Given the description of an element on the screen output the (x, y) to click on. 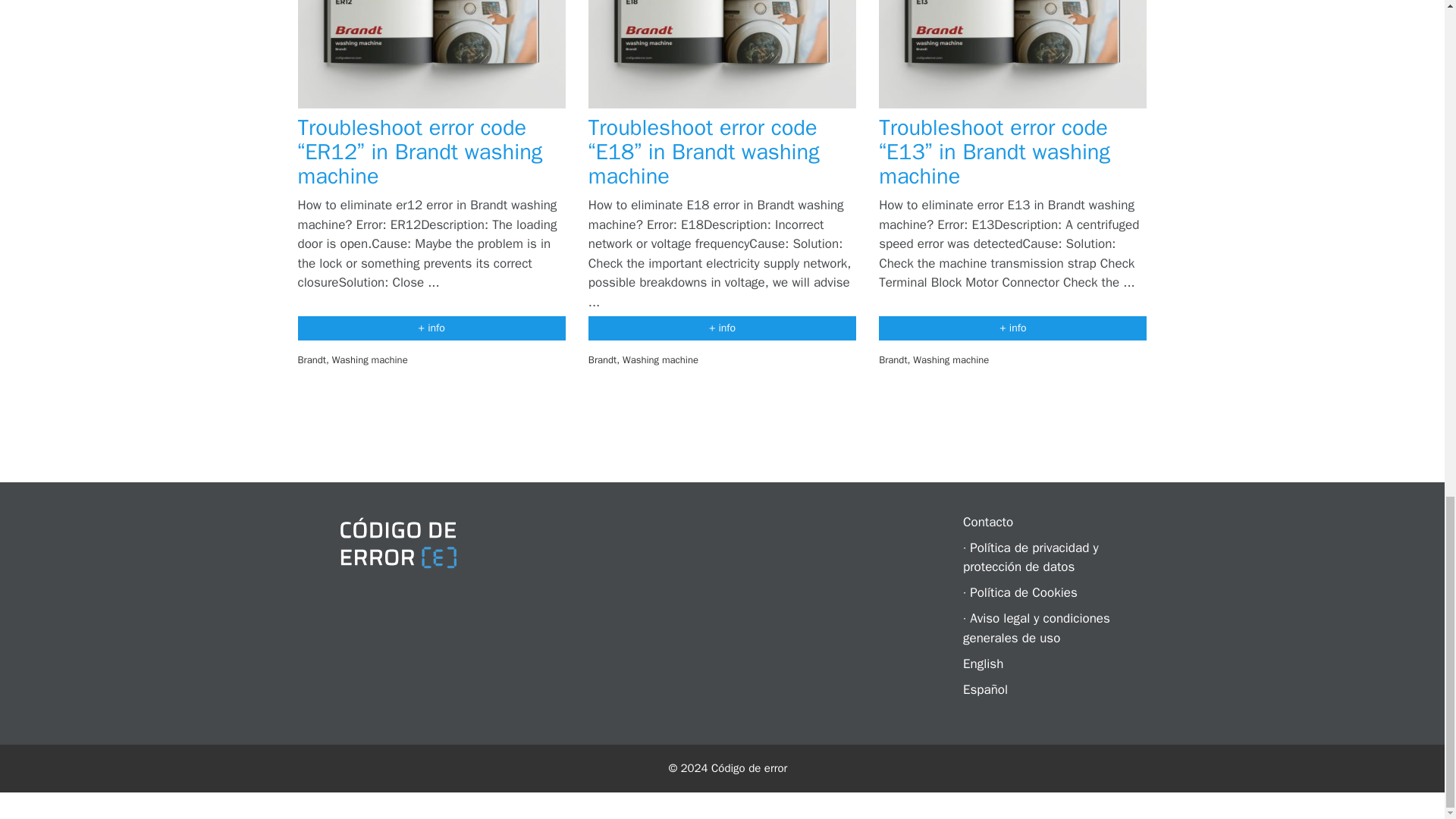
Brandt (893, 359)
Brandt (310, 359)
Washing machine (660, 359)
Brandt (601, 359)
Washing machine (950, 359)
Washing machine (369, 359)
